Given the description of an element on the screen output the (x, y) to click on. 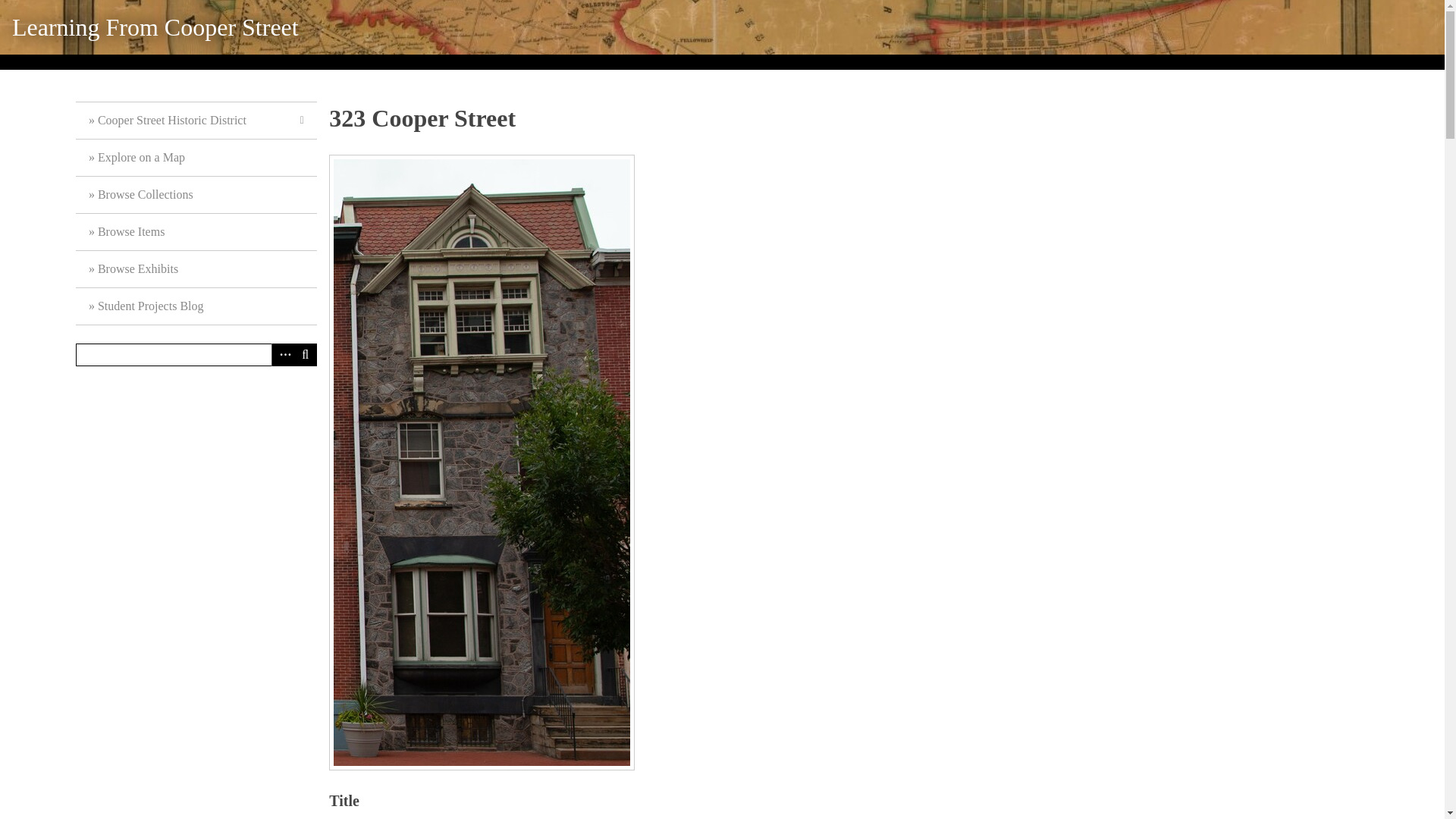
Search (195, 354)
Student Projects Blog (195, 306)
Search (305, 354)
Advanced Search (282, 354)
Cooper Street Historic District (195, 120)
Browse Exhibits (195, 269)
Browse Items (195, 231)
Browse Collections (195, 194)
Learning From Cooper Street (154, 26)
Explore on a Map (195, 157)
